Given the description of an element on the screen output the (x, y) to click on. 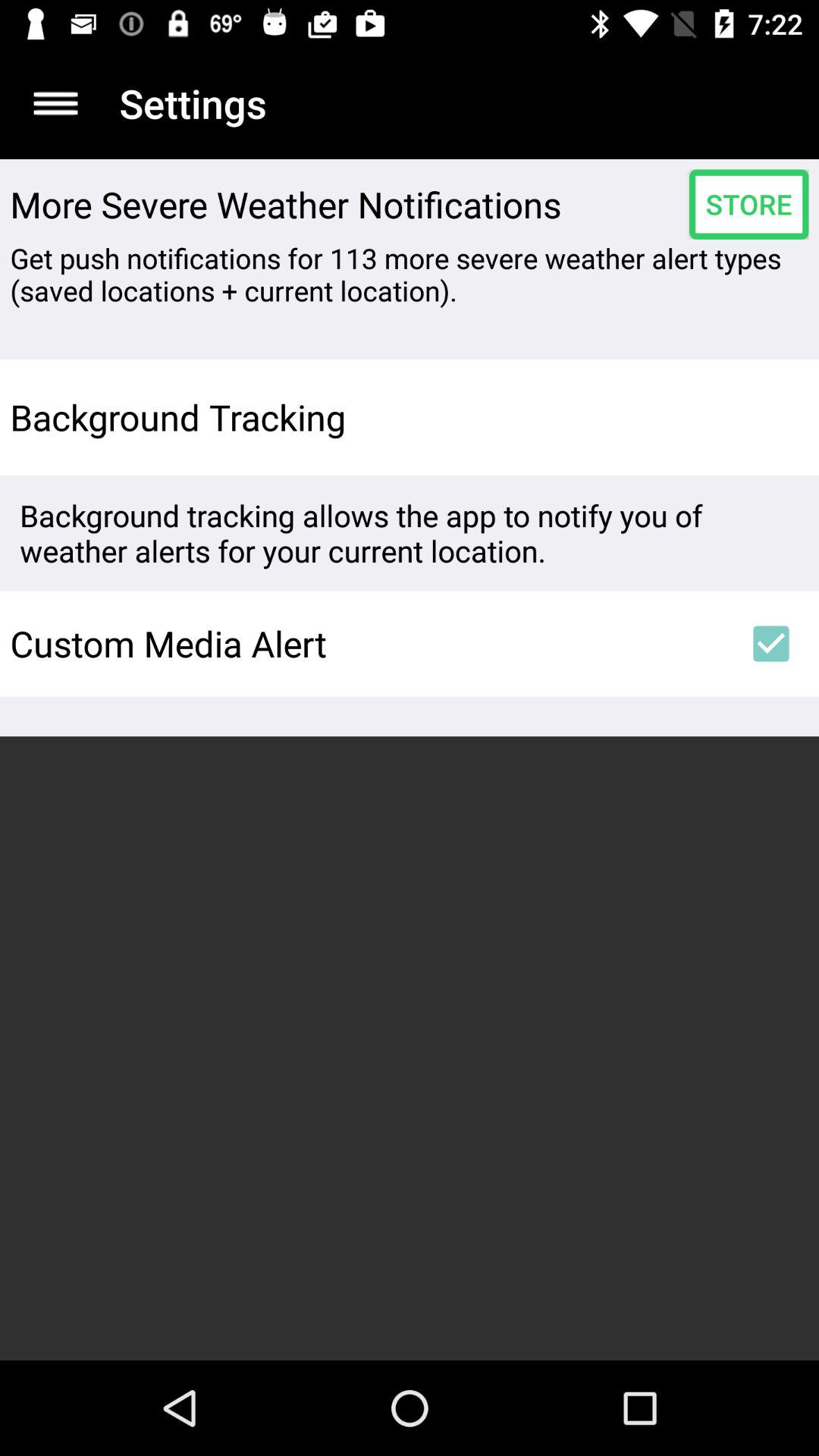
turn off icon above the more severe weather icon (55, 103)
